Given the description of an element on the screen output the (x, y) to click on. 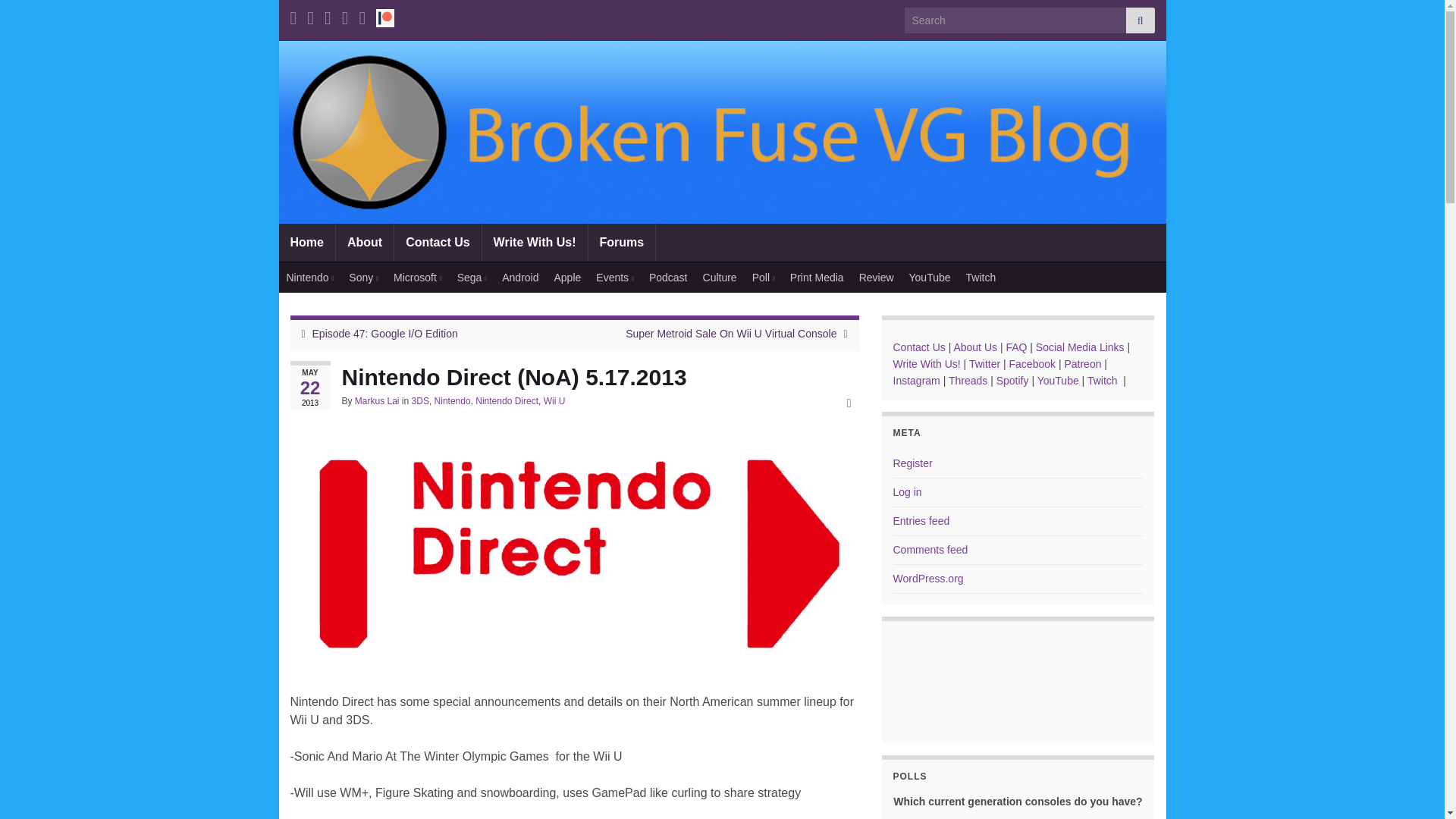
Home (306, 242)
patreon (384, 15)
Nintendo (310, 277)
About (364, 242)
Write With Us! (534, 242)
Forums (622, 242)
Sony (362, 277)
Microsoft (417, 277)
Contact Us (437, 242)
